Given the description of an element on the screen output the (x, y) to click on. 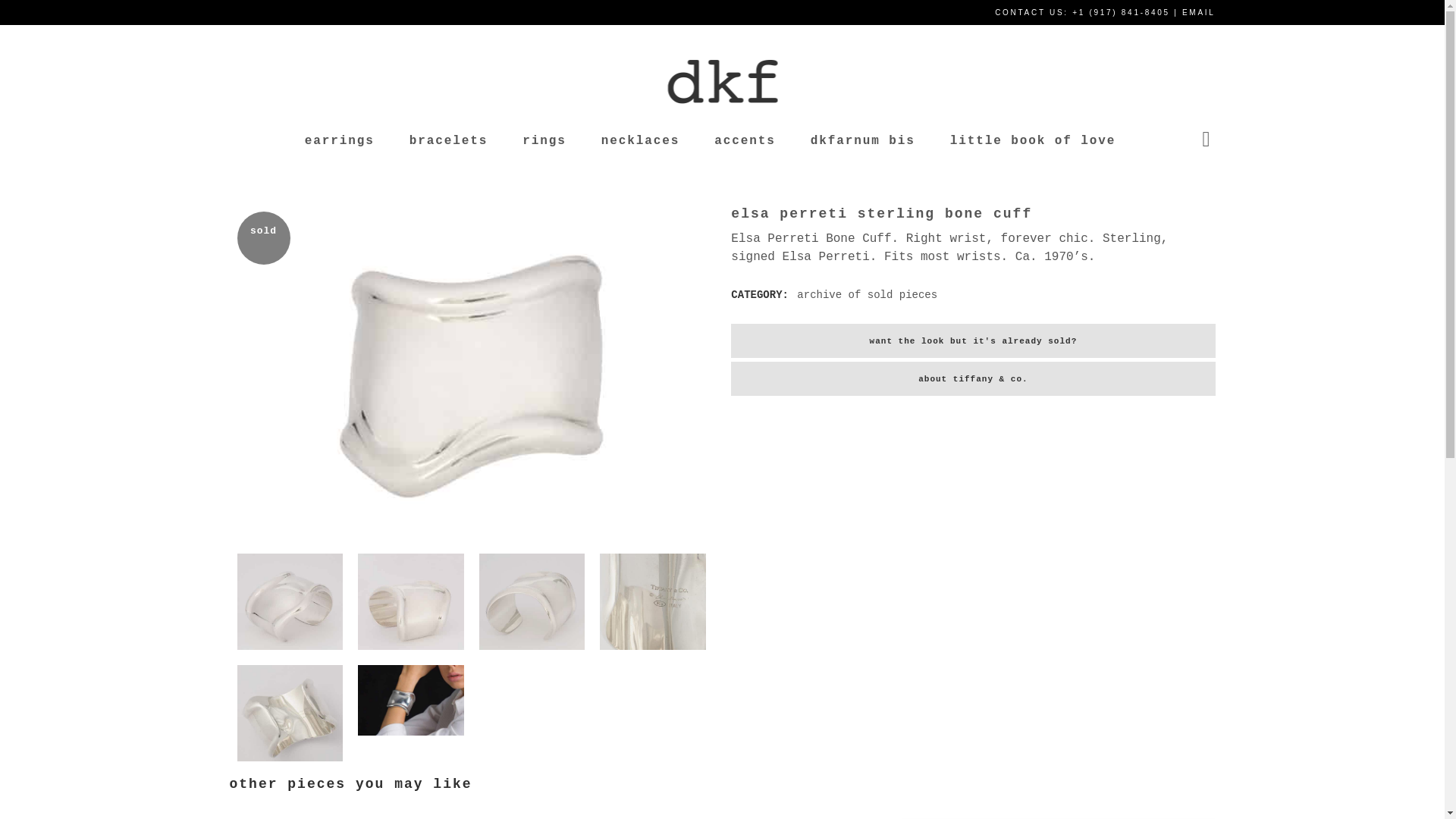
bespoke services (603, 524)
elsa perreti sterling bone cuff (532, 601)
elsa perreti sterling bone cuff (652, 601)
dkfarnum bis (863, 140)
elsa perreti sterling bone cuff (411, 601)
elsa perreti sterling bone cuff (288, 601)
EMAIL (1198, 12)
elsa perreti sterling bone cuff (288, 713)
necklaces (640, 140)
elsa perreti sterling bone cuff (411, 700)
earrings (338, 140)
little book of love (1033, 140)
archive of sold pieces (866, 295)
rings (544, 140)
